Given the description of an element on the screen output the (x, y) to click on. 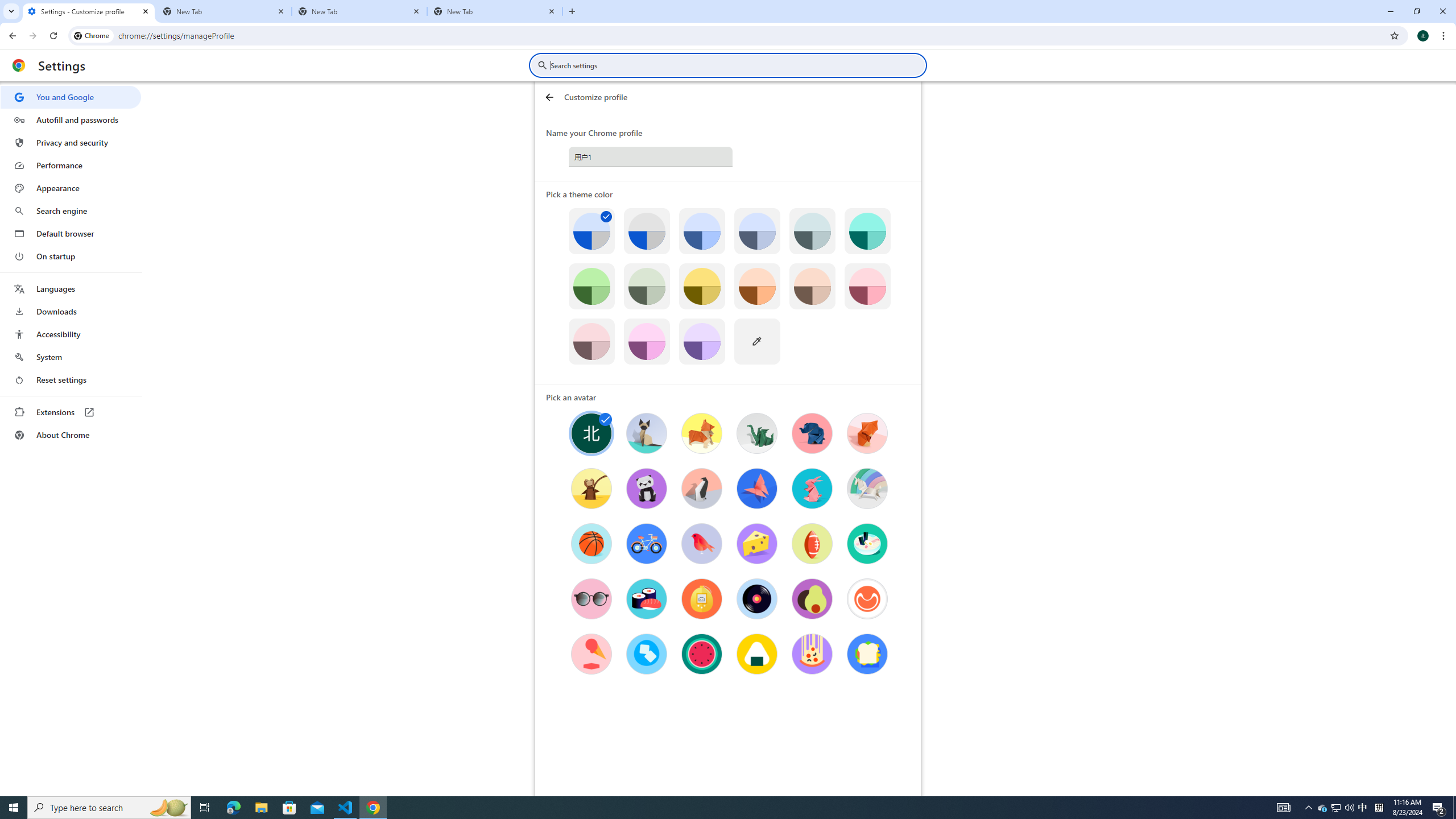
Settings - Customize profile (88, 11)
Accessibility (70, 333)
Appearance (70, 187)
Downloads (70, 311)
Performance (70, 164)
Search settings (735, 65)
Reset settings (70, 379)
Languages (70, 288)
